Given the description of an element on the screen output the (x, y) to click on. 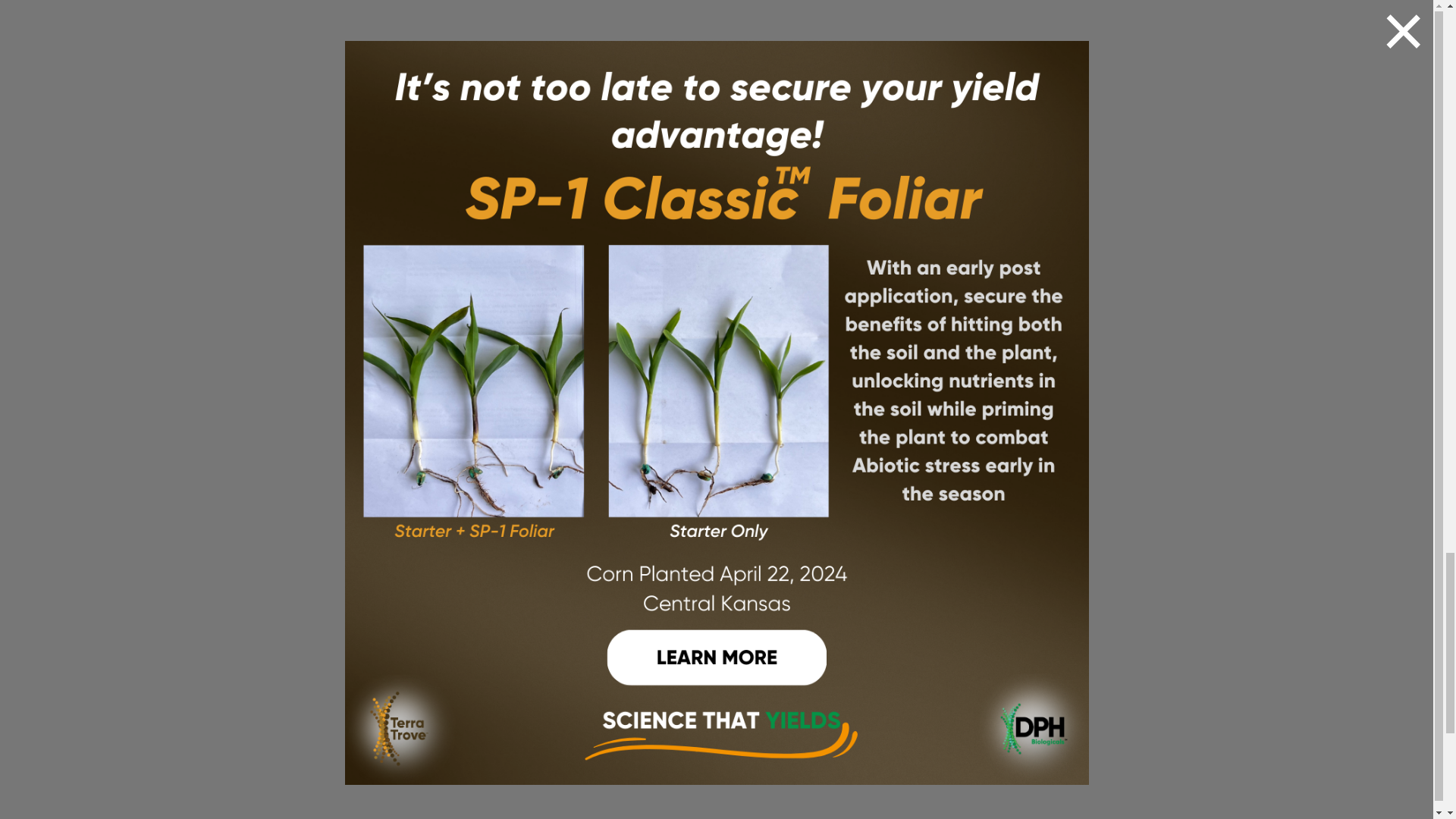
DPH Logo (232, 760)
